Given the description of an element on the screen output the (x, y) to click on. 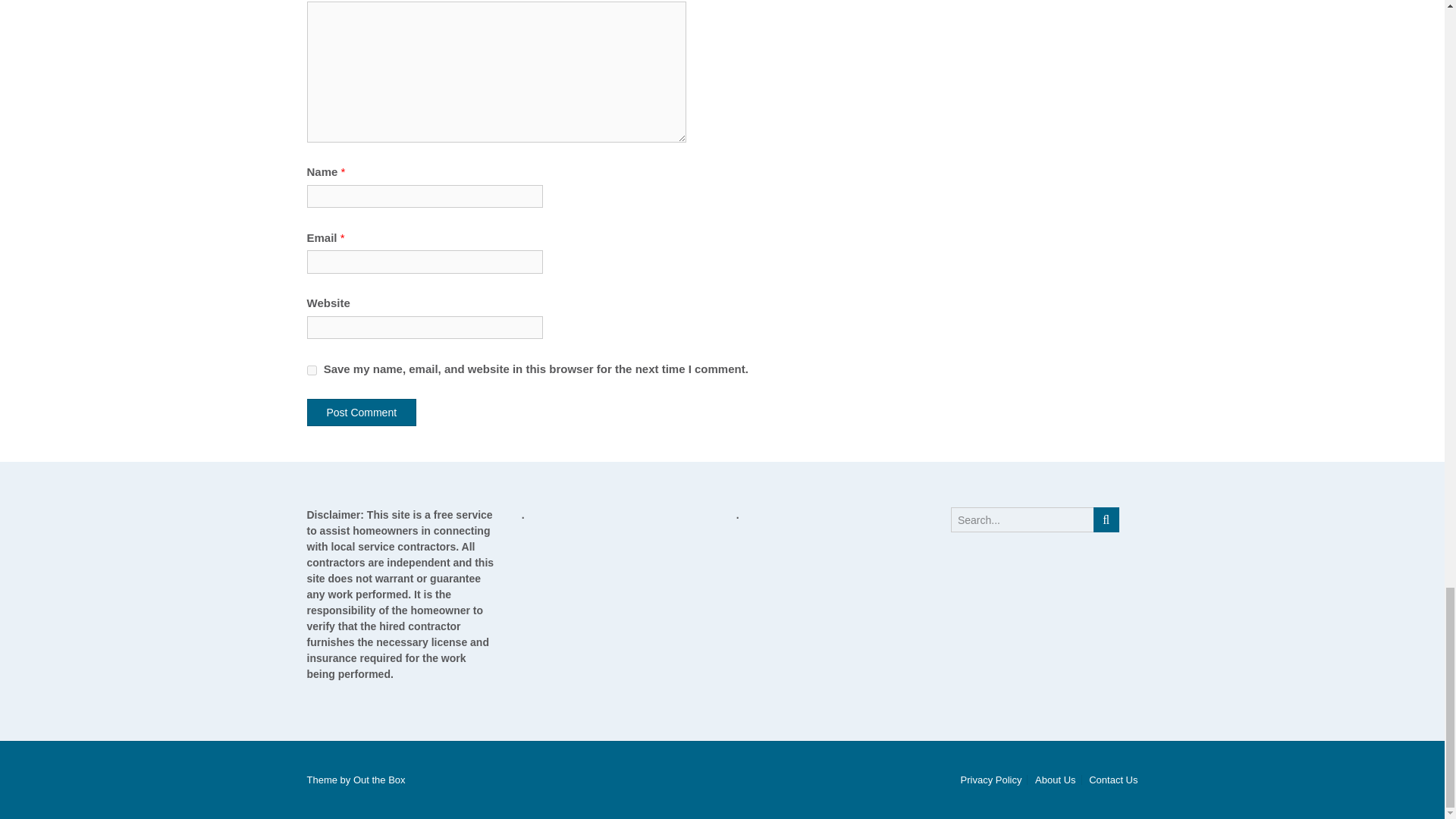
Contact Us (1110, 779)
Out the Box (379, 779)
About Us (1054, 779)
yes (310, 370)
Post Comment (360, 411)
Post Comment (360, 411)
Privacy Policy (991, 779)
Search for: (1022, 519)
